Given the description of an element on the screen output the (x, y) to click on. 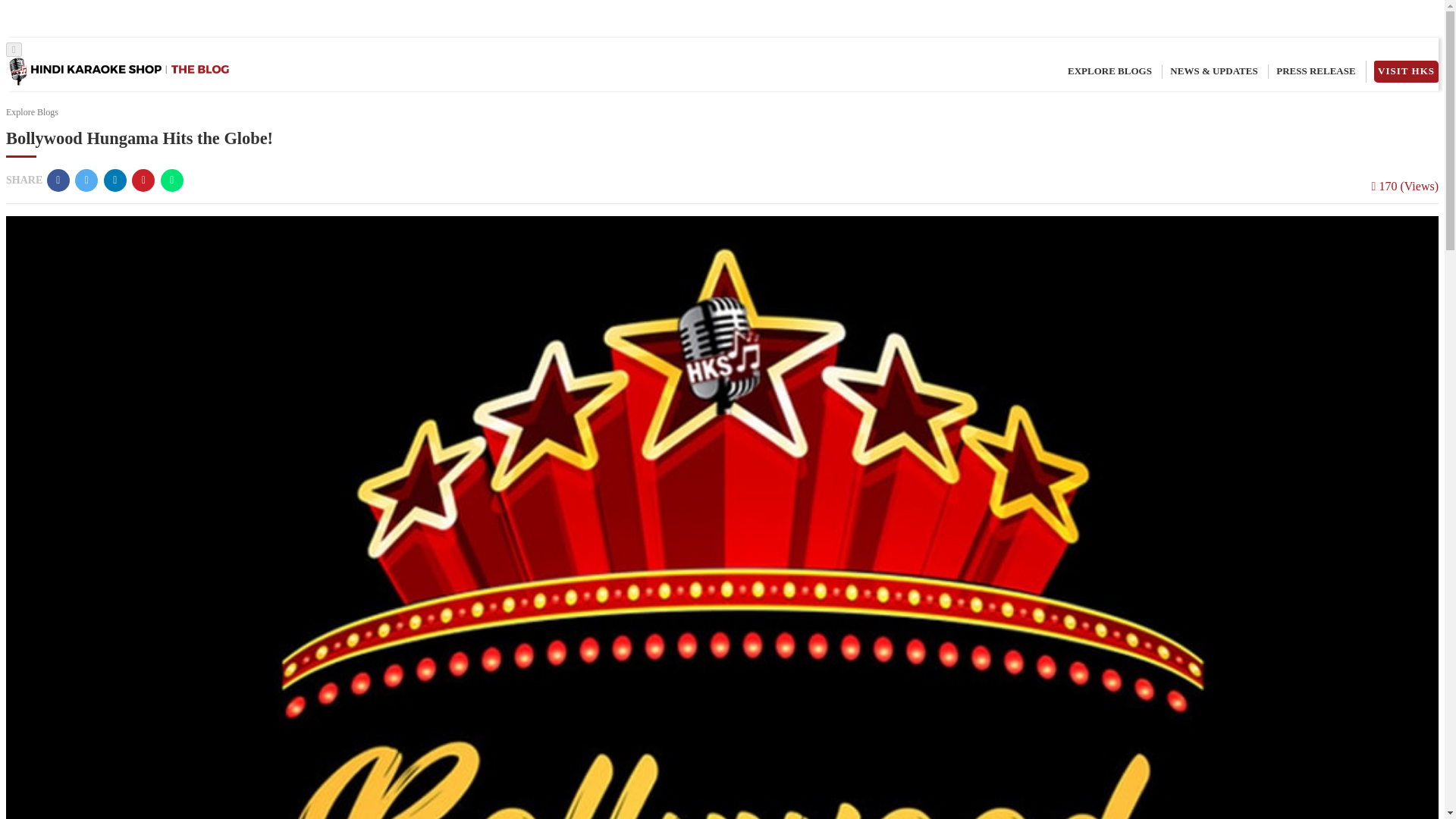
VISIT HKS (1406, 71)
EXPLORE BLOGS (1109, 71)
PRESS RELEASE (1315, 71)
